Given the description of an element on the screen output the (x, y) to click on. 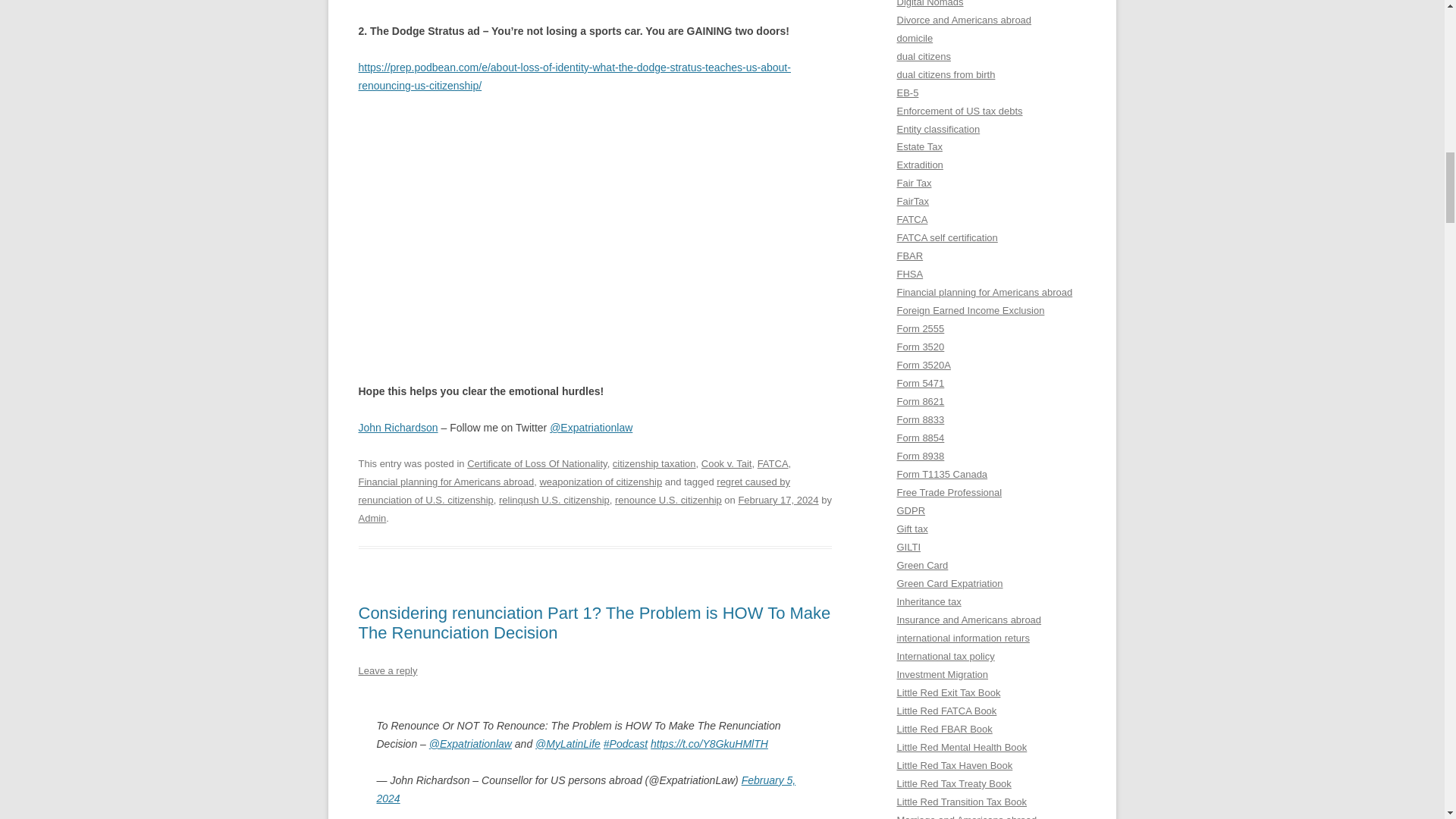
9:43 pm (778, 500)
View all posts by Admin (371, 518)
